Given the description of an element on the screen output the (x, y) to click on. 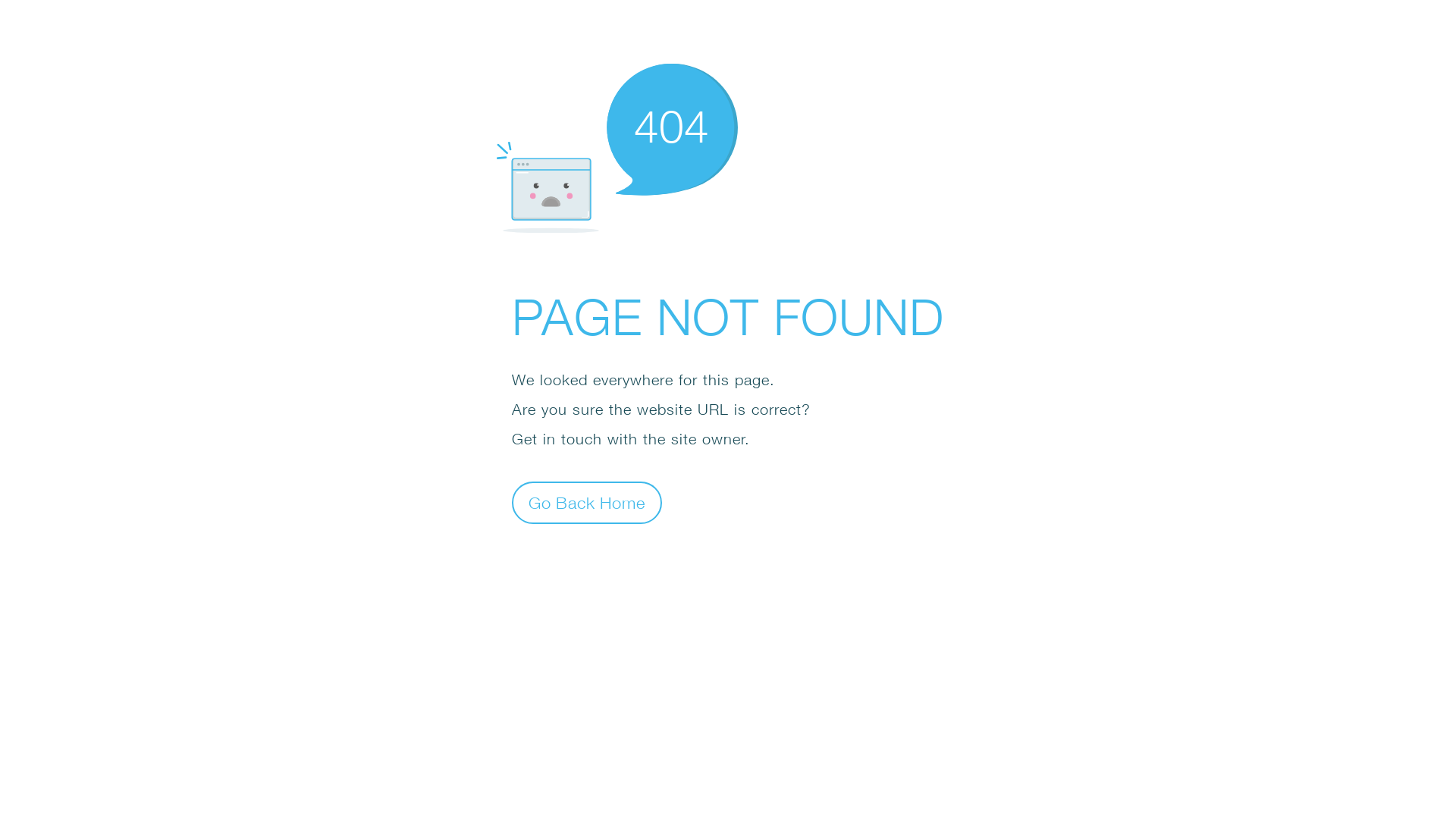
Go Back Home Element type: text (586, 502)
